Given the description of an element on the screen output the (x, y) to click on. 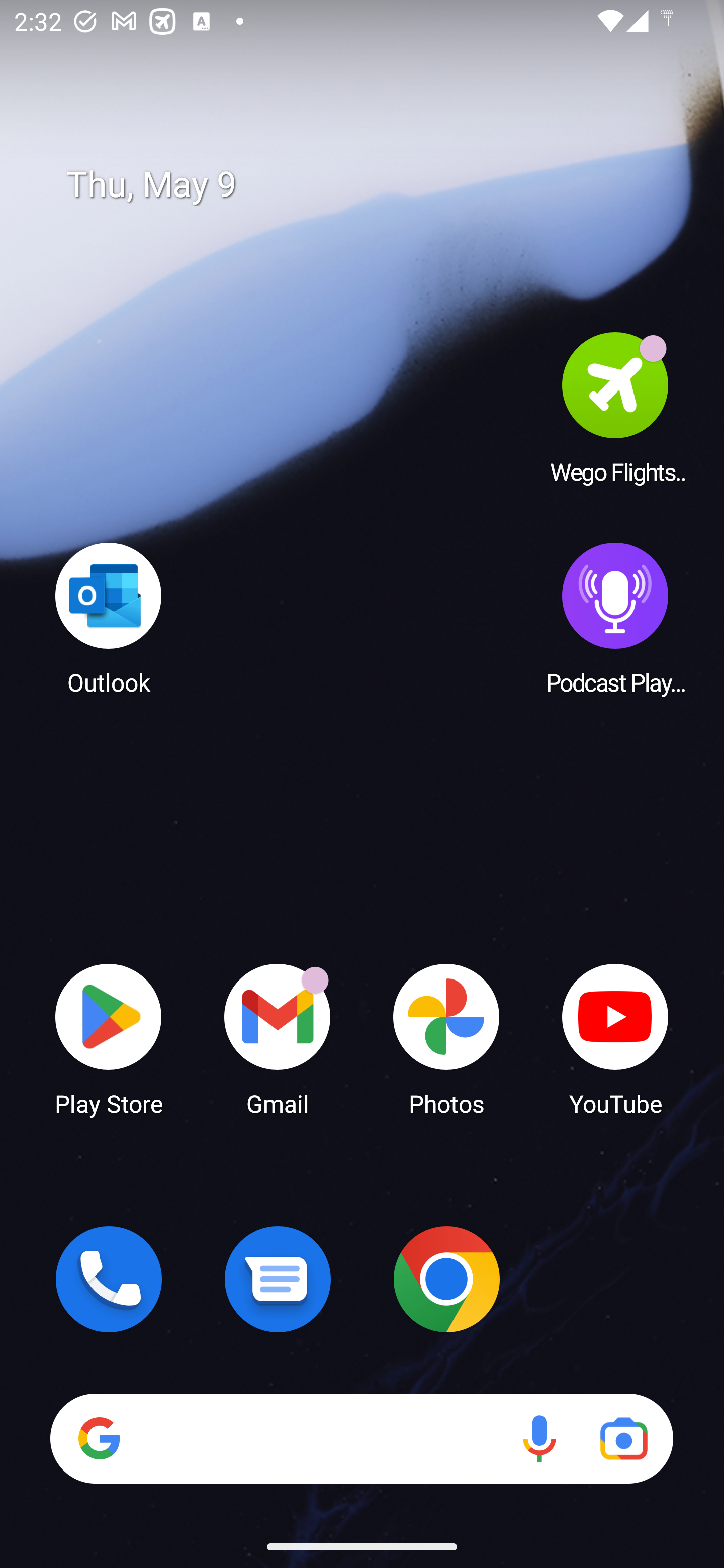
Thu, May 9 (375, 184)
Outlook (108, 617)
Podcast Player (615, 617)
Play Store (108, 1038)
Gmail Gmail has 18 notifications (277, 1038)
Photos (445, 1038)
YouTube (615, 1038)
Phone (108, 1279)
Messages (277, 1279)
Chrome (446, 1279)
Search Voice search Google Lens (361, 1438)
Voice search (539, 1438)
Google Lens (623, 1438)
